Given the description of an element on the screen output the (x, y) to click on. 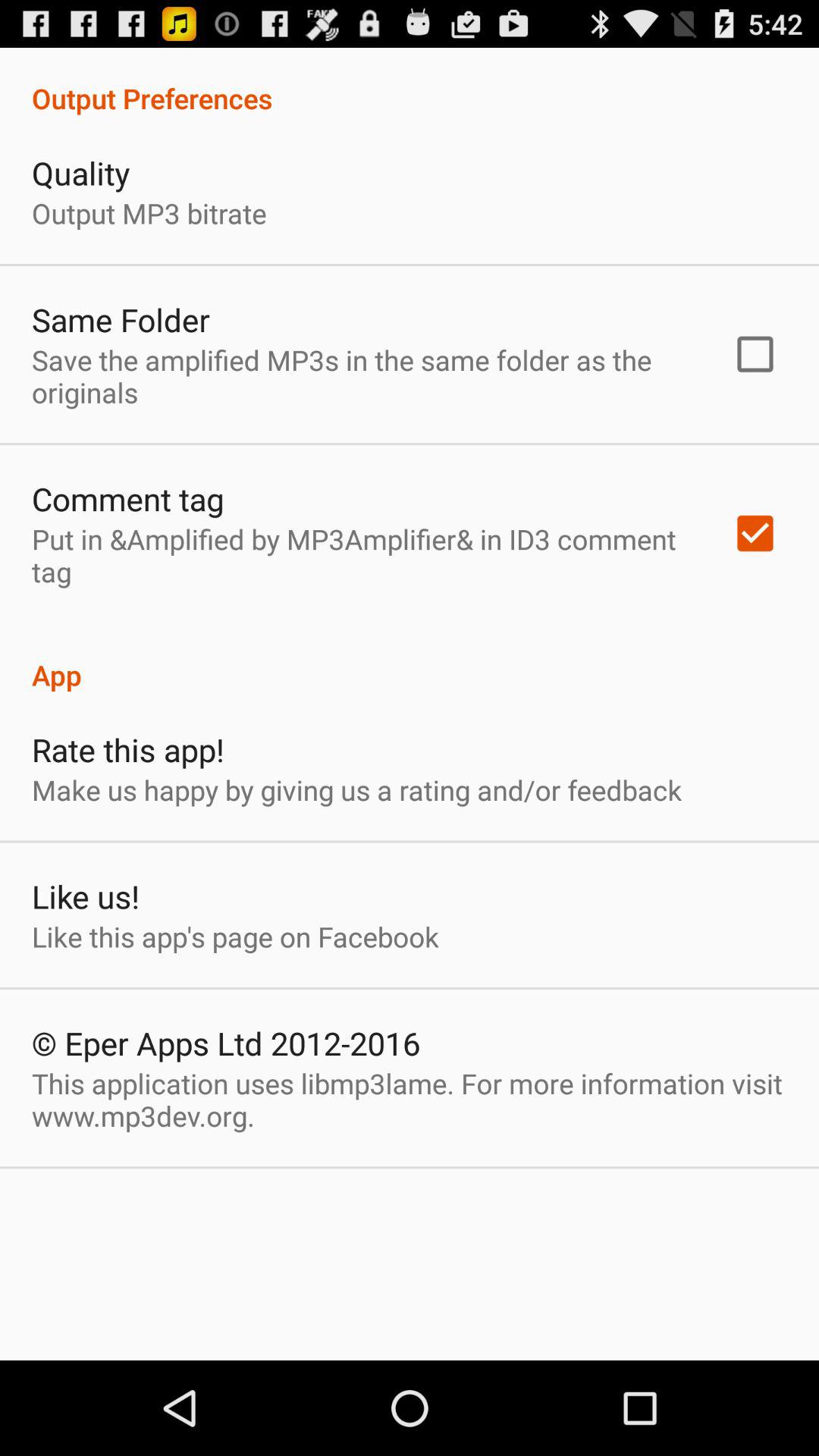
press the make us happy app (356, 789)
